Given the description of an element on the screen output the (x, y) to click on. 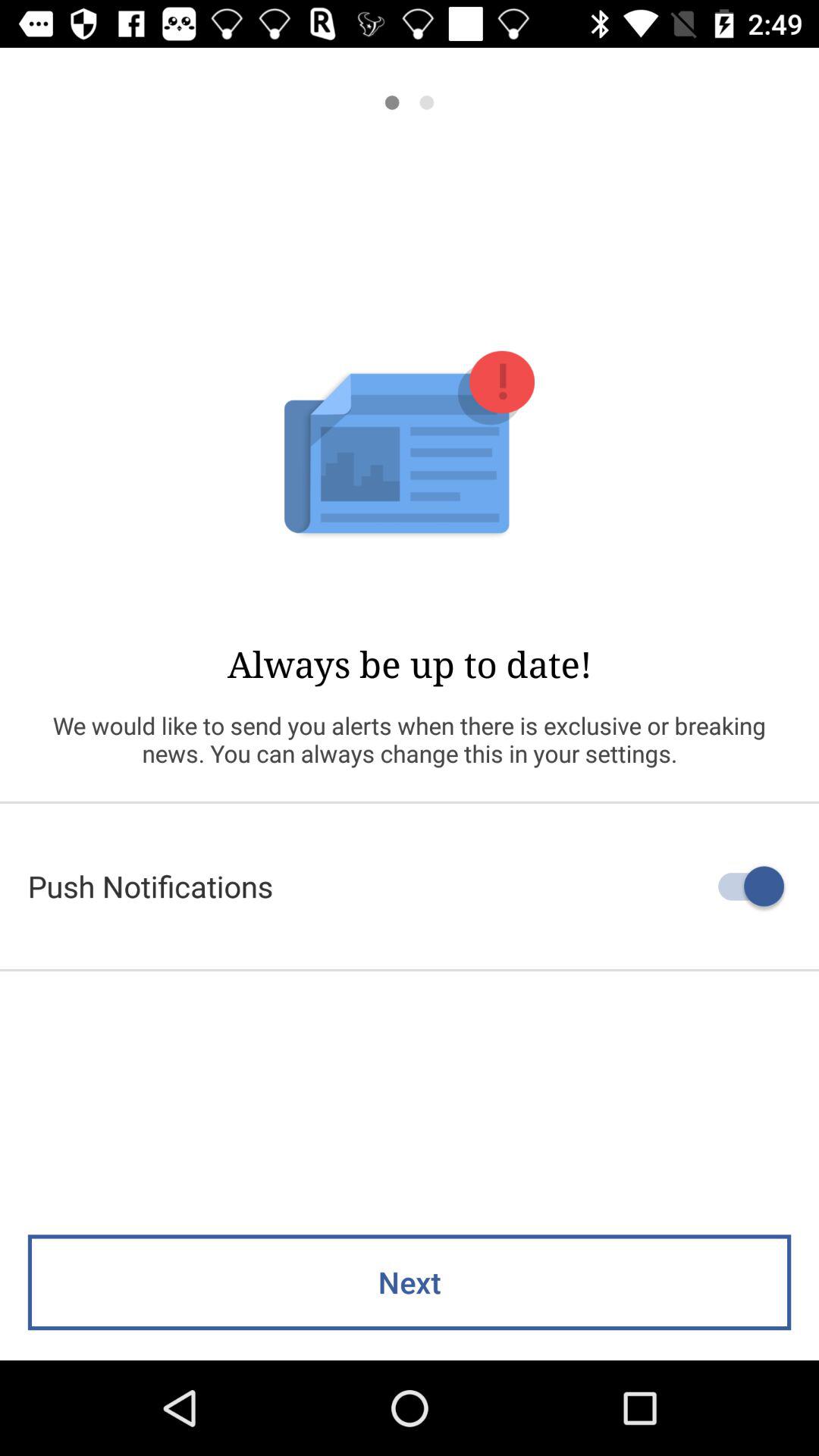
jump until push notifications (409, 886)
